Given the description of an element on the screen output the (x, y) to click on. 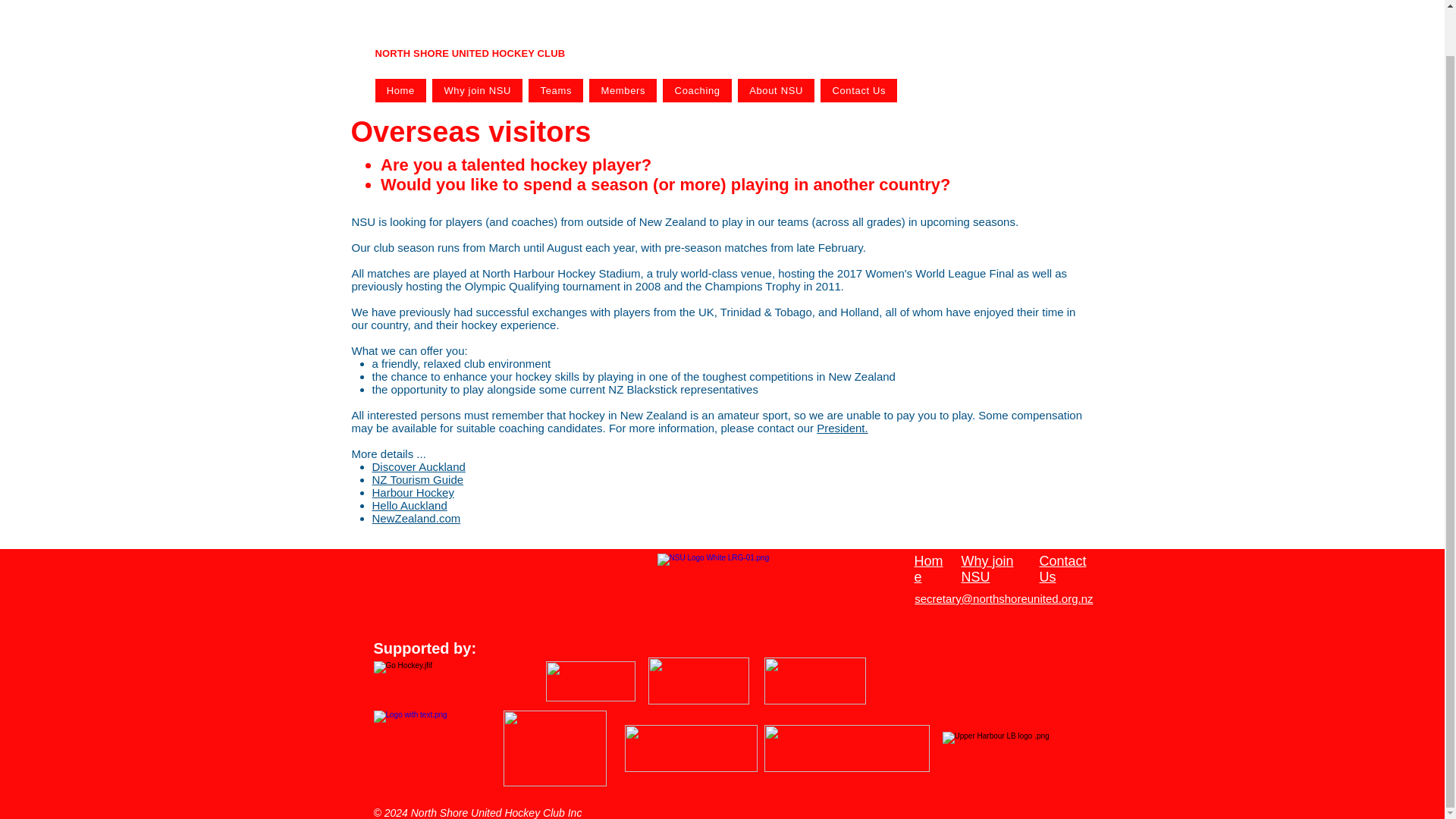
Home (400, 90)
Why join NSU (477, 90)
